Given the description of an element on the screen output the (x, y) to click on. 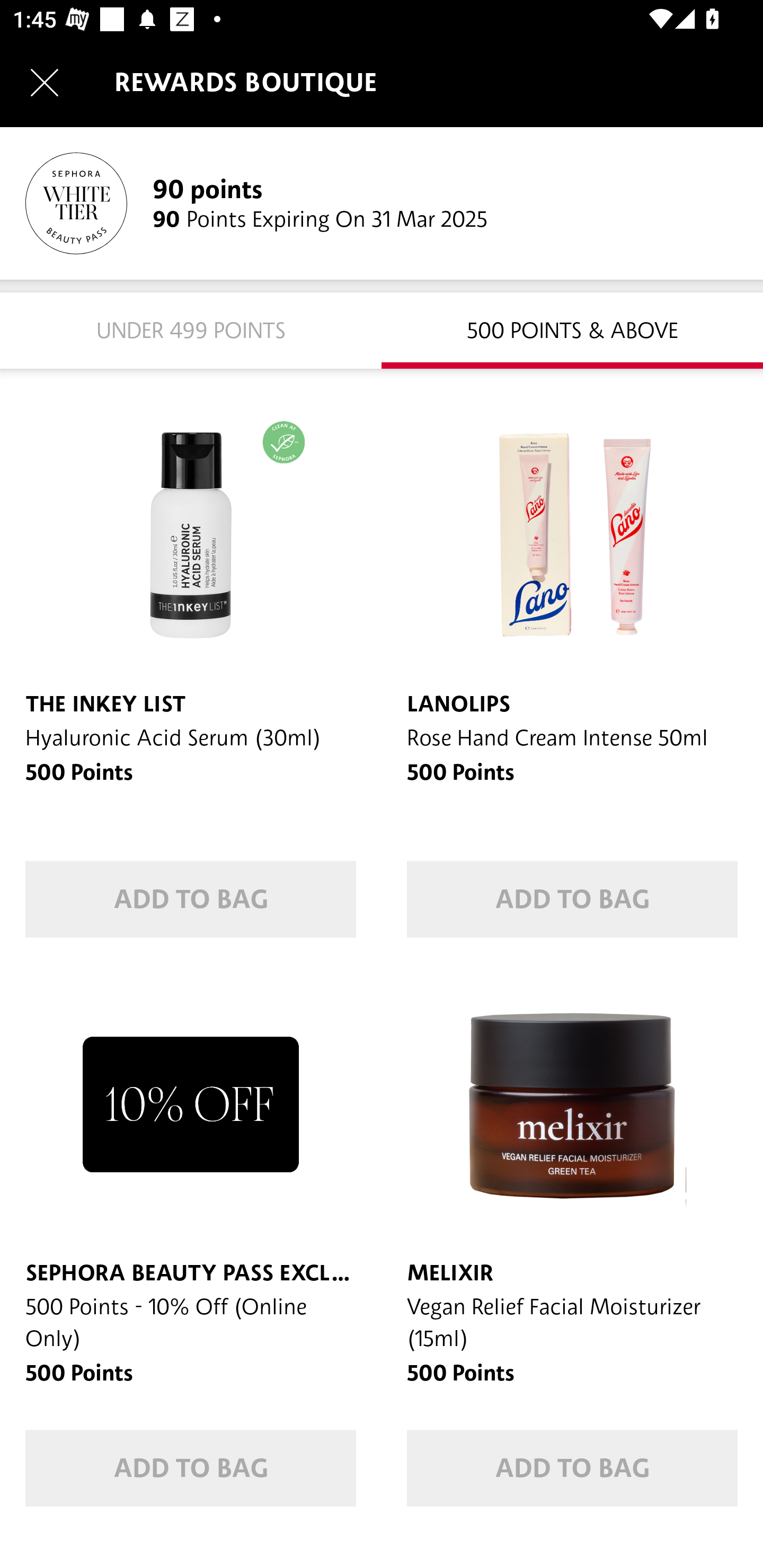
Navigate up (44, 82)
Under 499 Points UNDER 499 POINTS (190, 329)
ADD TO BAG (190, 898)
ADD TO BAG (571, 898)
ADD TO BAG (190, 1468)
ADD TO BAG (571, 1468)
